Given the description of an element on the screen output the (x, y) to click on. 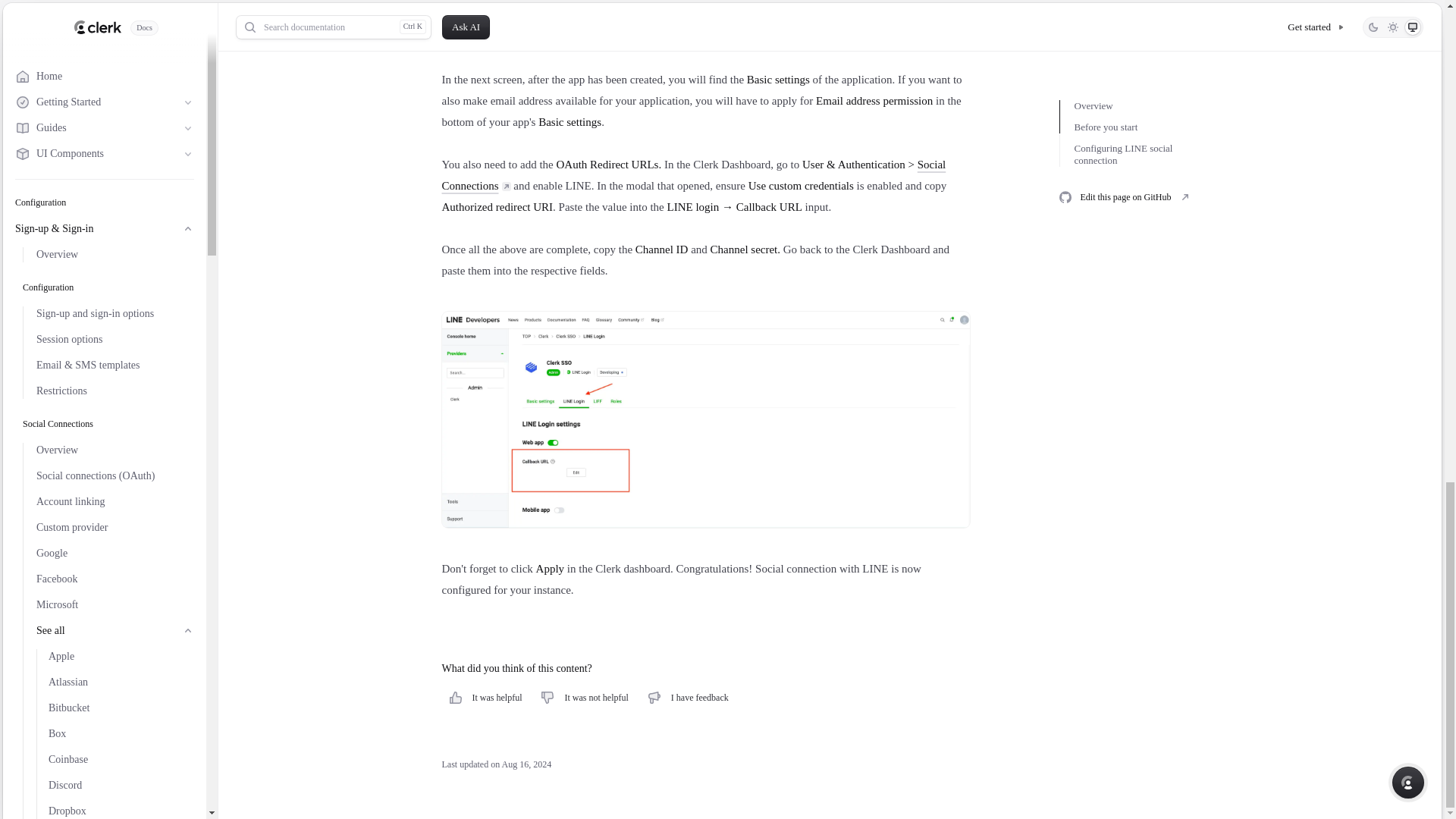
not-helpful (543, 694)
feedback (651, 694)
helpful (451, 694)
